Given the description of an element on the screen output the (x, y) to click on. 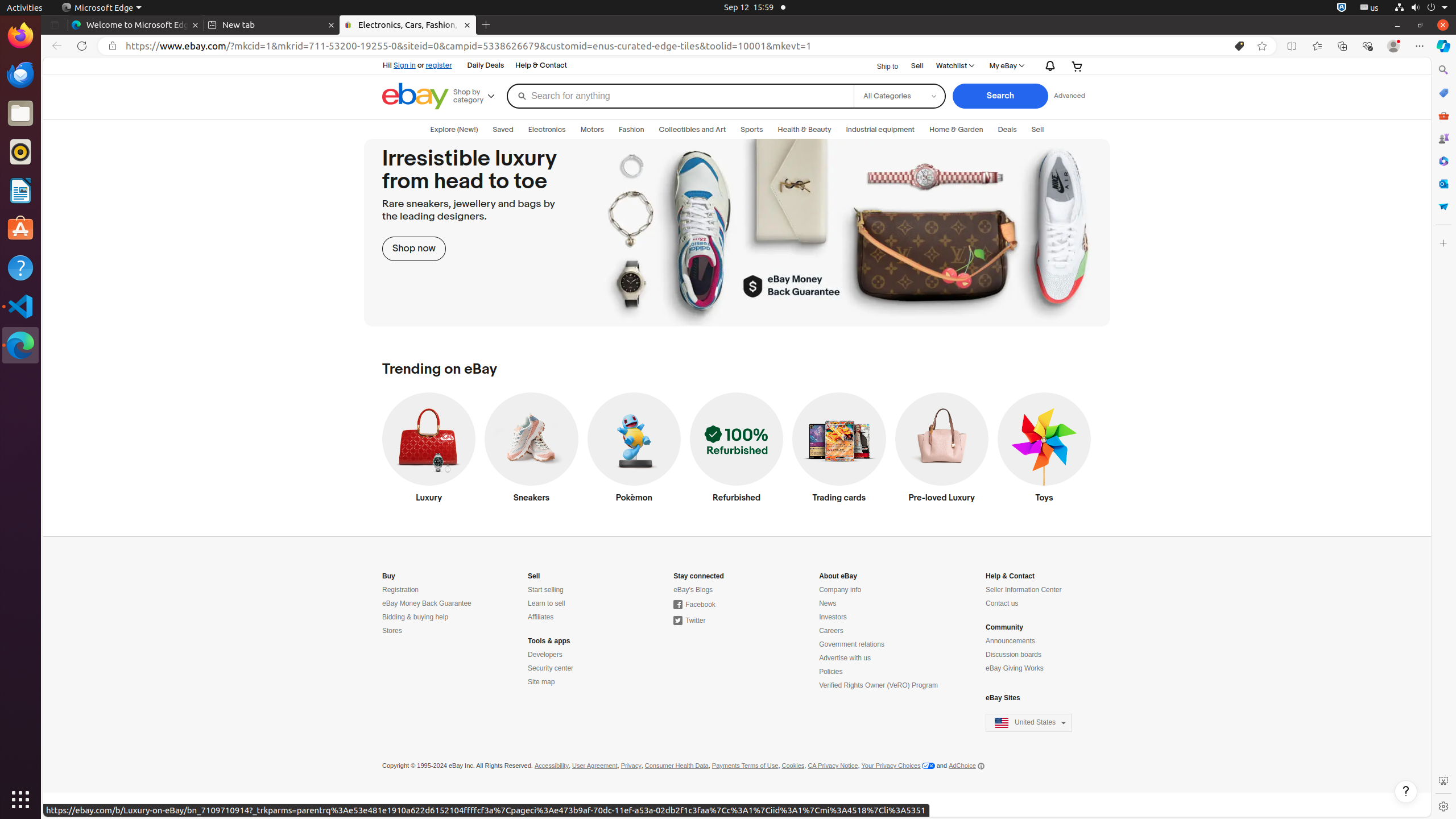
Accessibility Element type: link (551, 765)
View site information Element type: push-button (112, 46)
Deals Element type: link (1006, 129)
Luxury Element type: link (429, 450)
Close tab Element type: push-button (195, 25)
